Given the description of an element on the screen output the (x, y) to click on. 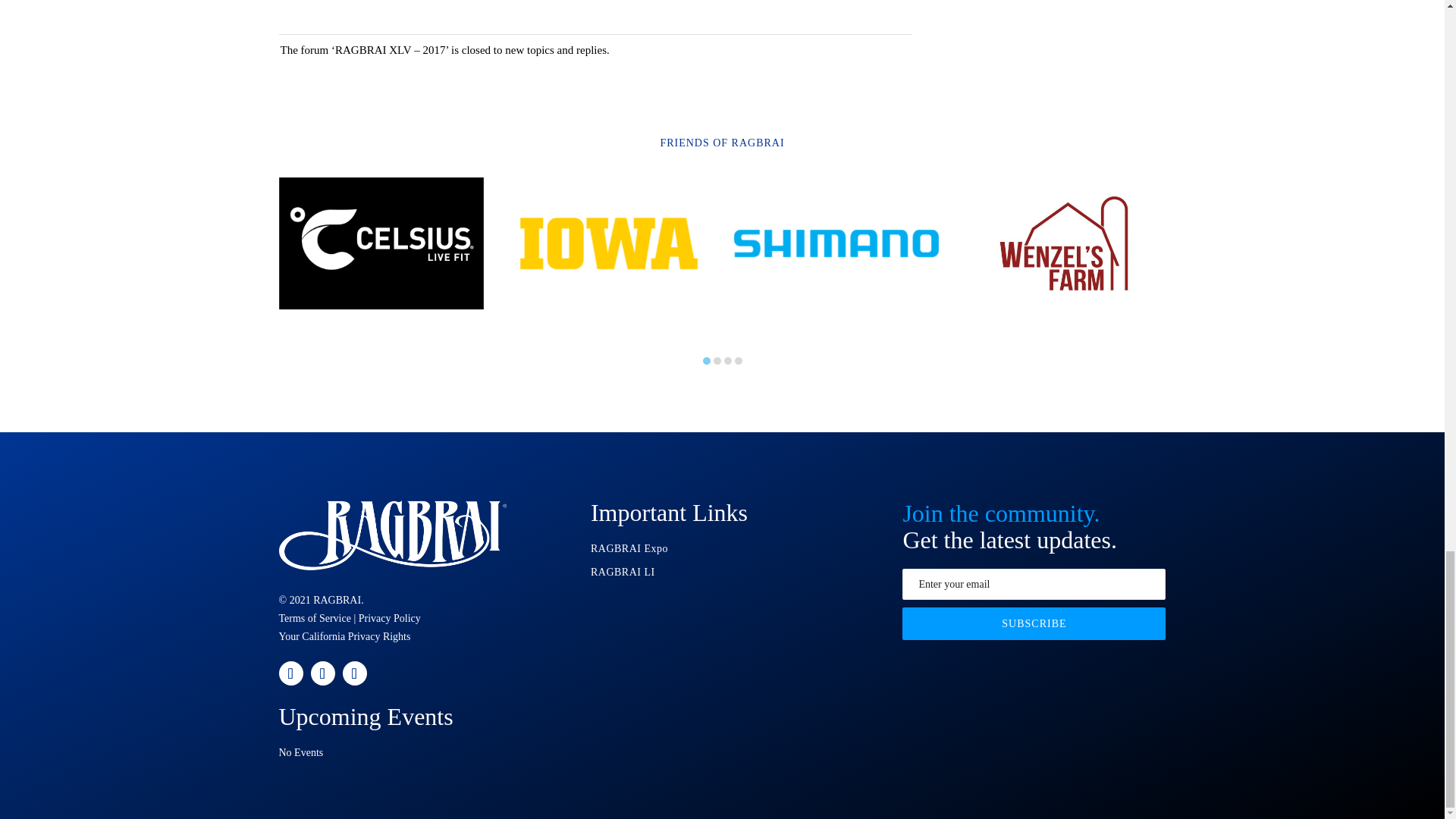
Subscribe (1034, 623)
